Given the description of an element on the screen output the (x, y) to click on. 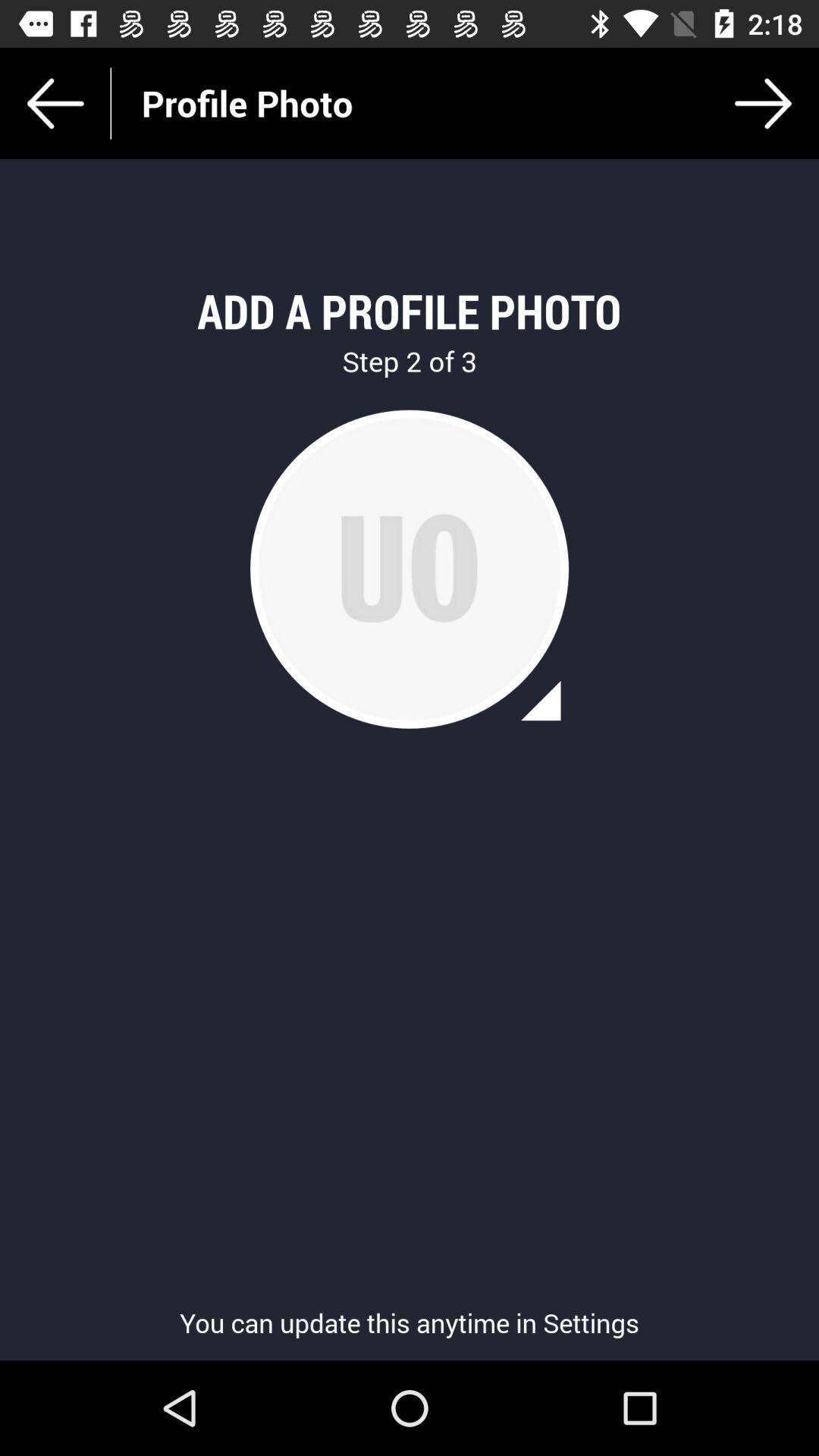
select icon to the right of the profile photo (763, 103)
